Given the description of an element on the screen output the (x, y) to click on. 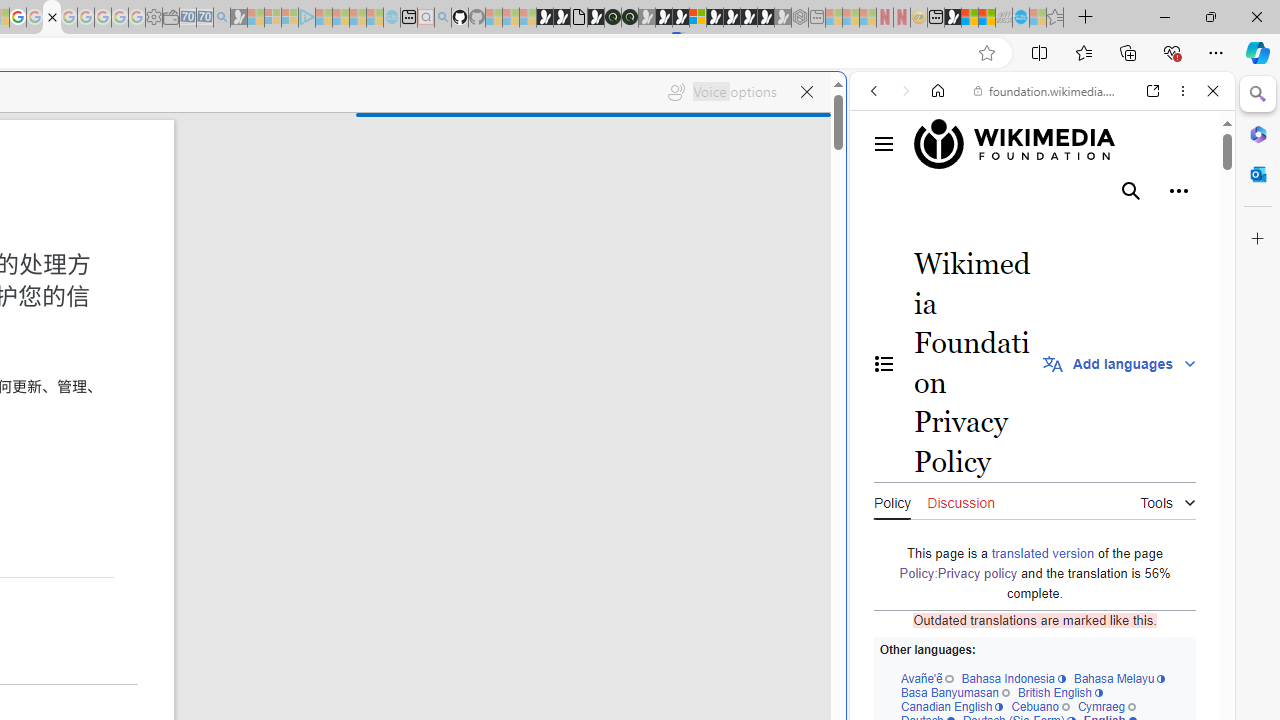
Cebuano (1040, 706)
github - Search - Sleeping (442, 17)
Home | Sky Blue Bikes - Sky Blue Bikes (687, 426)
Search the web (1051, 137)
SEARCH TOOLS (1093, 228)
Search or enter web address (343, 191)
Play Cave FRVR in your browser | Games from Microsoft Start (343, 426)
Microsoft Start Gaming - Sleeping (238, 17)
Cheap Car Rentals - Save70.com - Sleeping (204, 17)
Settings - Sleeping (153, 17)
